Given the description of an element on the screen output the (x, y) to click on. 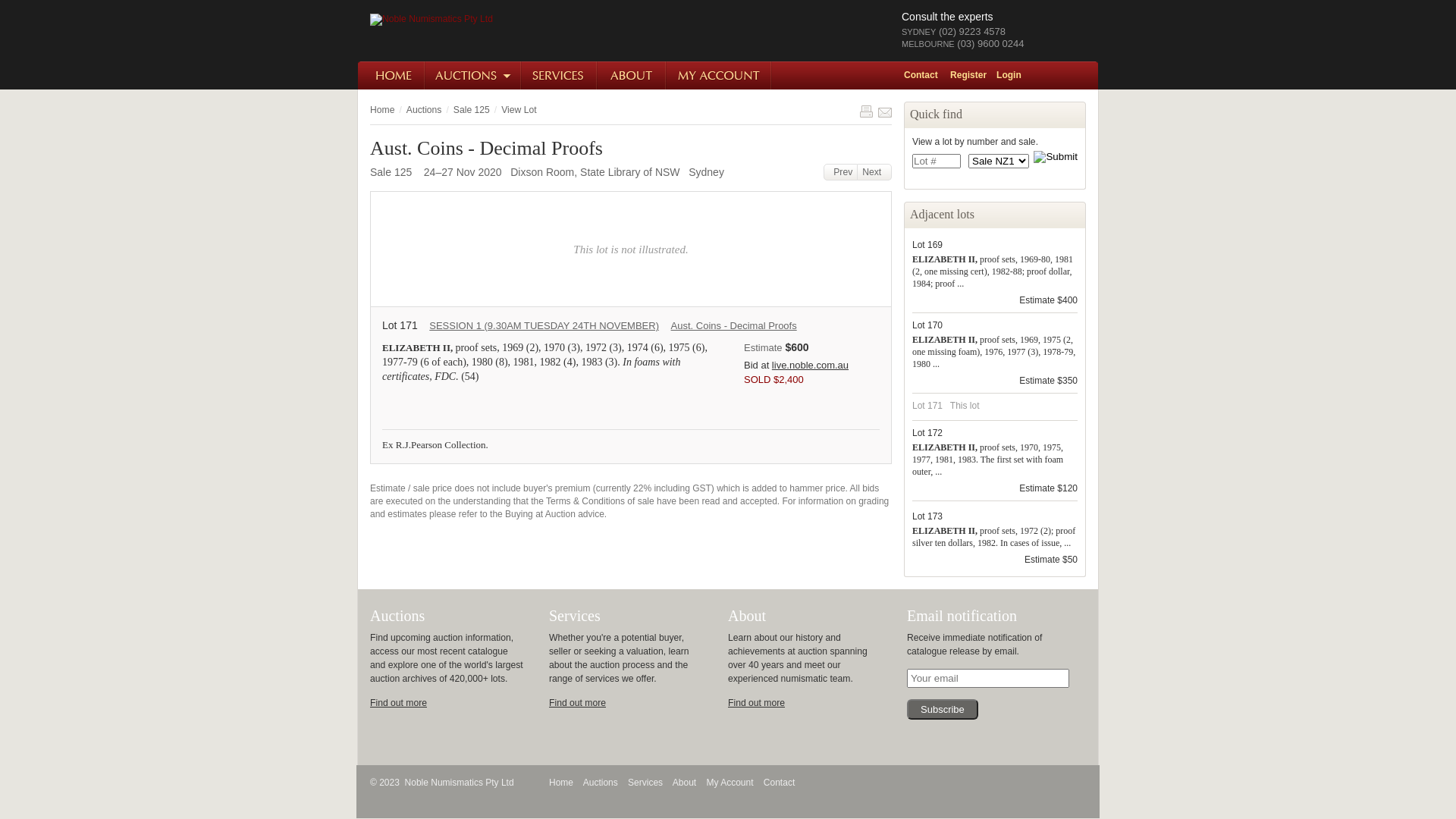
Services Element type: text (644, 782)
Contact Element type: text (778, 782)
Find out more Element type: text (577, 702)
My Account Element type: text (718, 75)
Find out more Element type: text (398, 702)
  Prev Element type: text (840, 171)
About Element type: text (684, 782)
Auctions Element type: text (600, 782)
Home Element type: text (561, 782)
Auctions Element type: text (424, 109)
Login Element type: text (1013, 74)
SESSION 1 (9.30AM TUESDAY 24TH NOVEMBER) Element type: text (543, 325)
Services Element type: text (559, 75)
Print Element type: text (865, 111)
View Lot Element type: text (518, 109)
About Element type: text (631, 75)
live.noble.com.au Element type: text (809, 364)
Aust. Coins - Decimal Proofs Element type: text (734, 325)
Auctions Element type: text (473, 75)
Home Element type: text (382, 109)
Contact Element type: text (925, 74)
My Account Element type: text (729, 782)
Next   Element type: text (874, 171)
Home Element type: text (391, 75)
Subscribe Element type: text (942, 709)
Find out more Element type: text (756, 702)
Sale 125 Element type: text (471, 109)
Share Element type: text (884, 111)
Register Element type: text (973, 74)
